Given the description of an element on the screen output the (x, y) to click on. 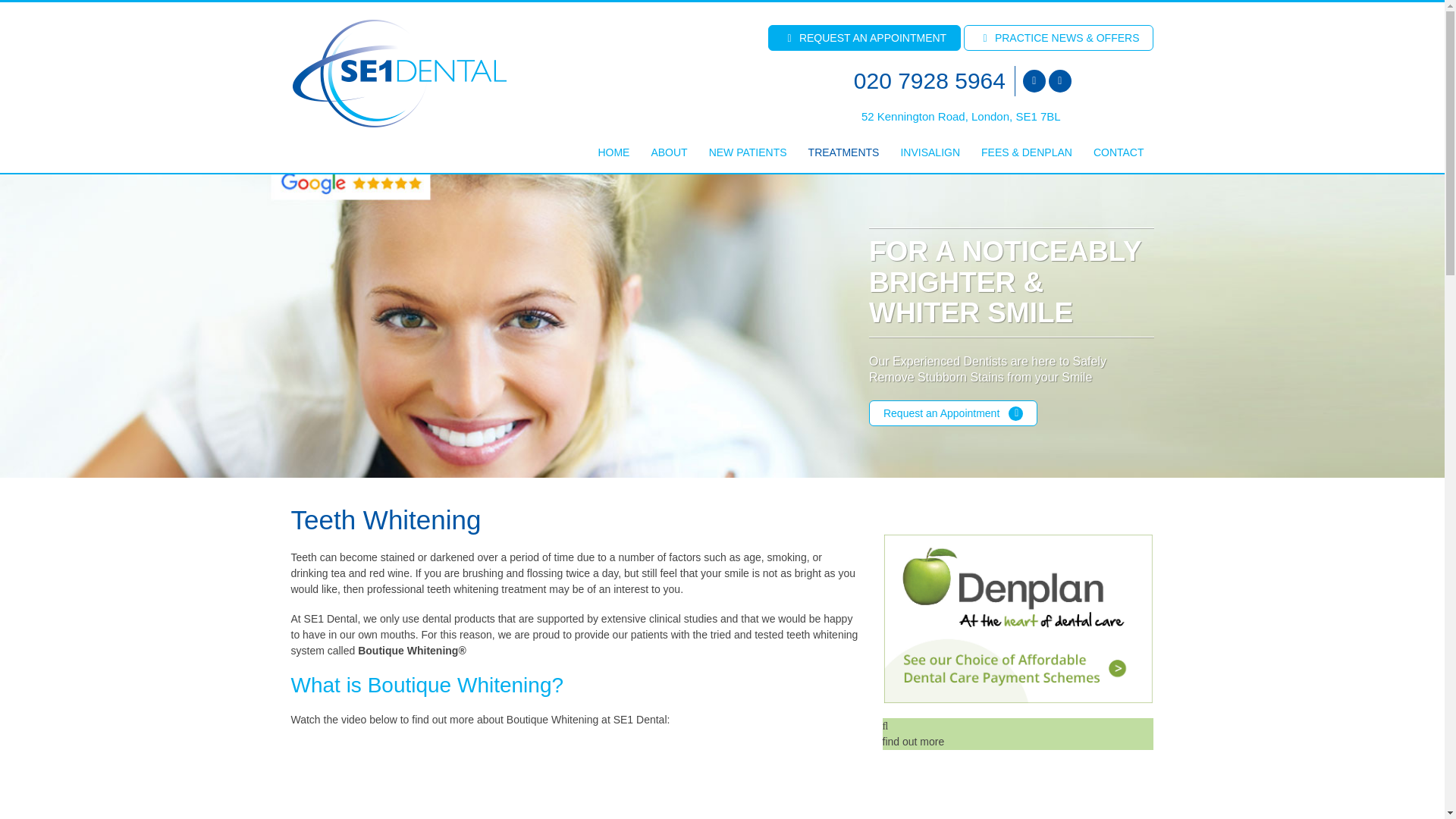
Denplan Dental Patient Plans in London (1018, 618)
NEW PATIENTS (747, 152)
ABOUT (668, 152)
CONTACT (1118, 152)
INVISALIGN (929, 152)
HOME (611, 152)
020 7928 5964 (930, 81)
Denplan Dental Patient Plans in London (1018, 734)
Request an Appointment (952, 412)
YouTube video player (503, 780)
REQUEST AN APPOINTMENT (864, 37)
TREATMENTS (842, 152)
